Given the description of an element on the screen output the (x, y) to click on. 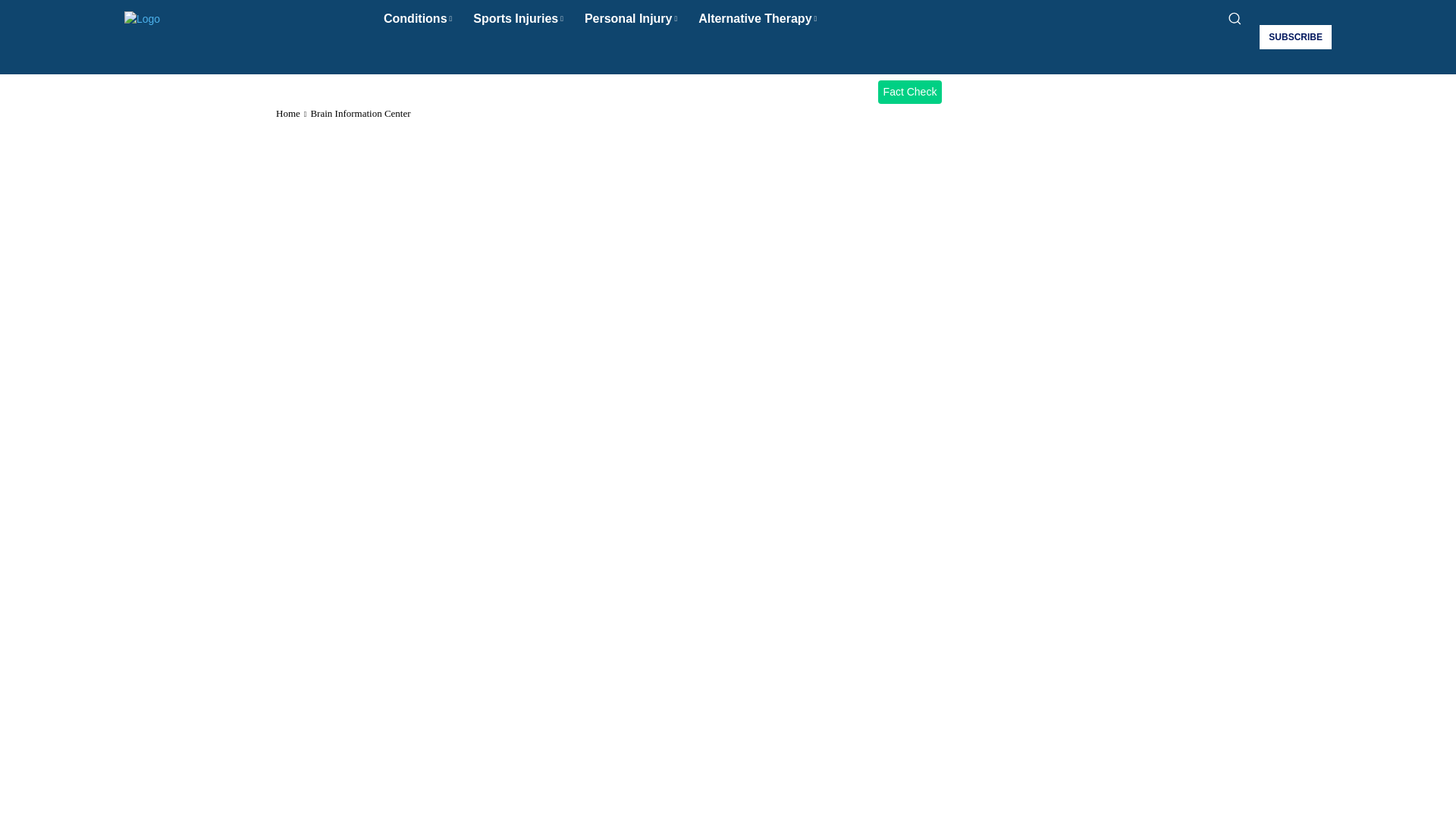
Search (727, 55)
View all posts in Brain Information Center (360, 112)
